Given the description of an element on the screen output the (x, y) to click on. 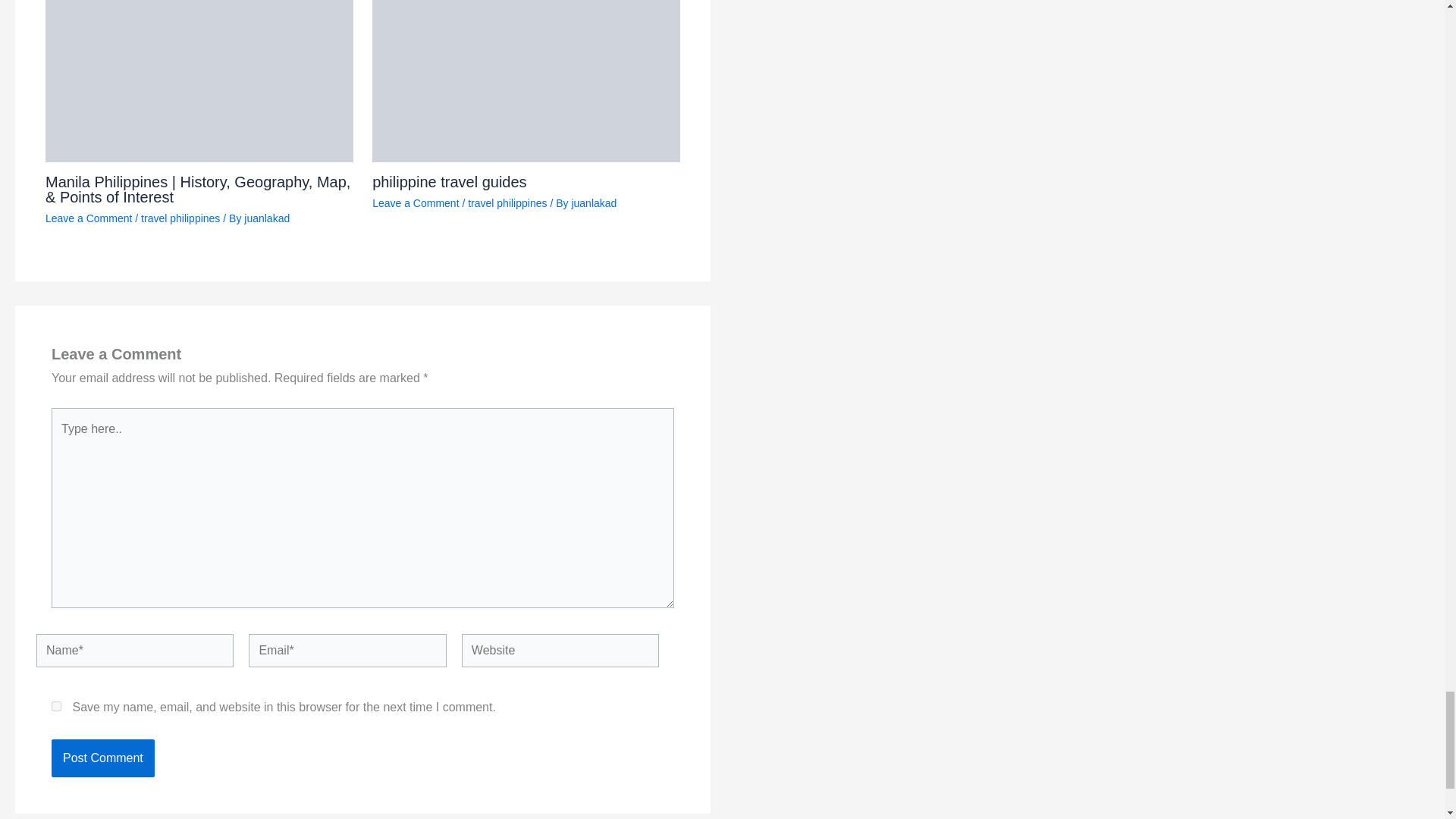
philippine travel guides (448, 181)
View all posts by juanlakad (592, 203)
travel philippines (180, 218)
Leave a Comment (88, 218)
Post Comment (102, 758)
yes (55, 706)
travel philippines (507, 203)
Leave a Comment (415, 203)
Post Comment (102, 758)
juanlakad (266, 218)
